Given the description of an element on the screen output the (x, y) to click on. 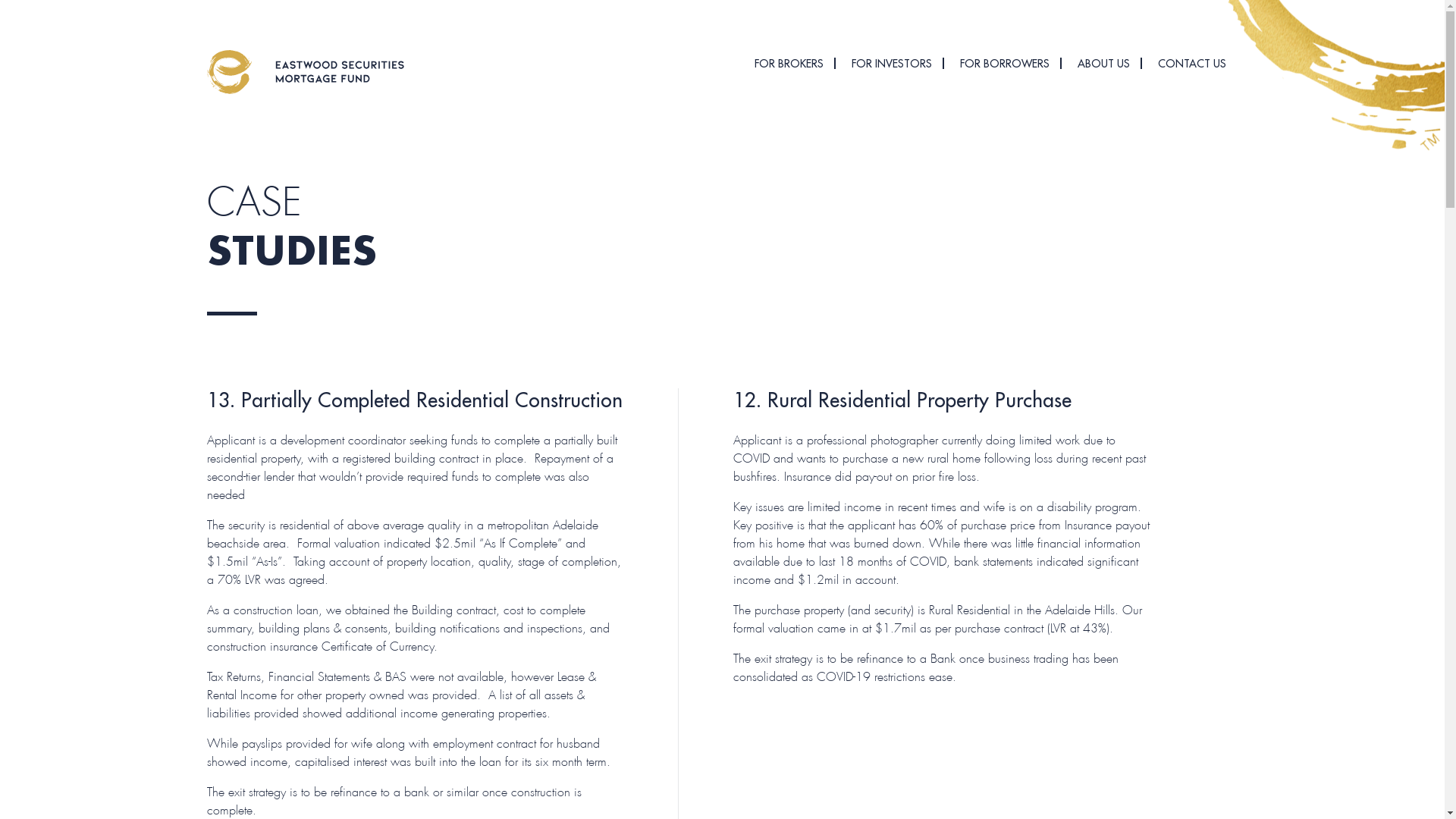
FOR BROKERS Element type: text (787, 63)
CONTACT US Element type: text (1191, 63)
FOR INVESTORS Element type: text (890, 63)
ABOUT US Element type: text (1102, 63)
FOR BORROWERS Element type: text (1004, 63)
